Given the description of an element on the screen output the (x, y) to click on. 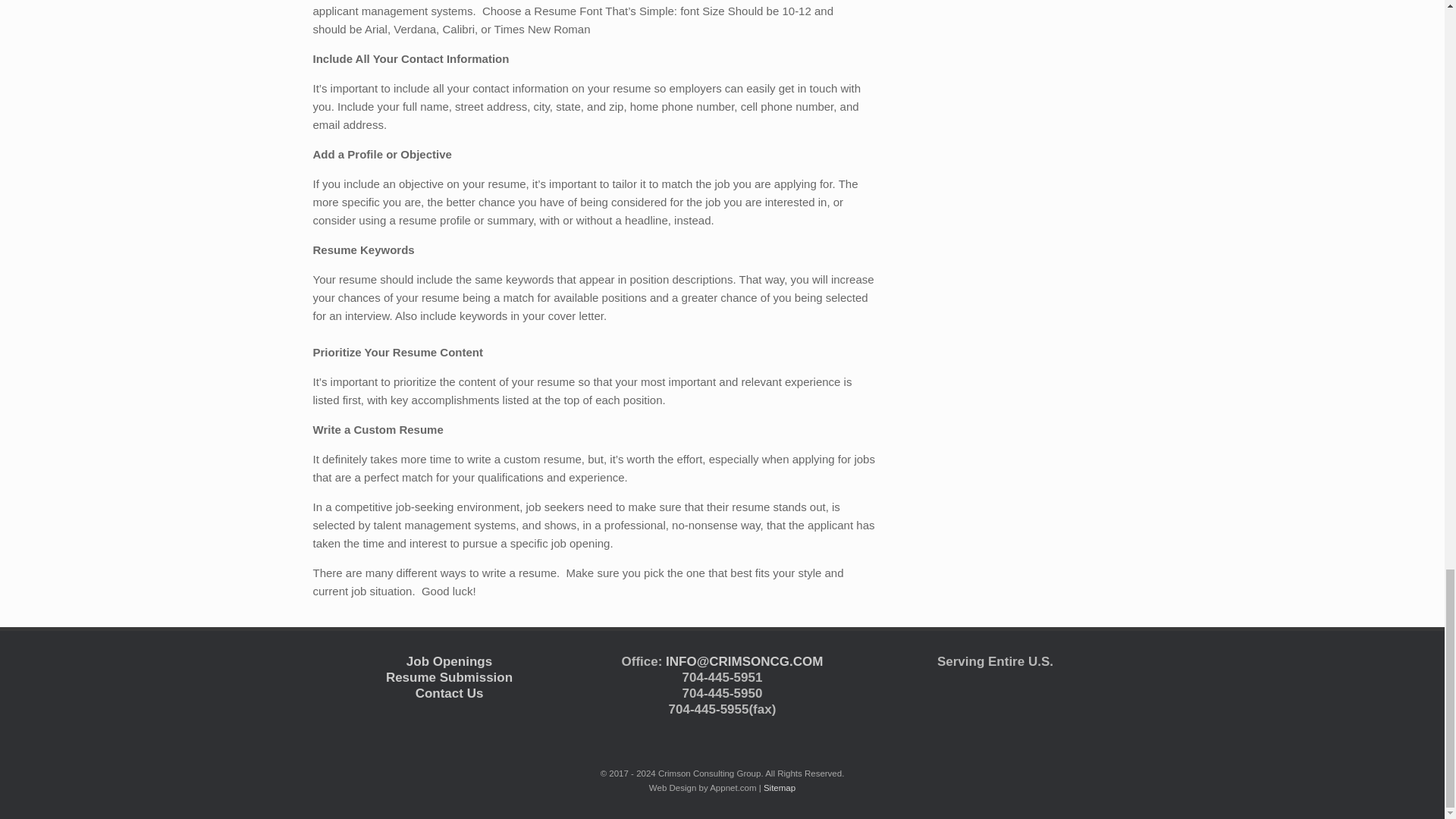
Contact Us (448, 693)
Job Openings (449, 661)
Resume Submission (448, 677)
Sitemap (778, 787)
